Given the description of an element on the screen output the (x, y) to click on. 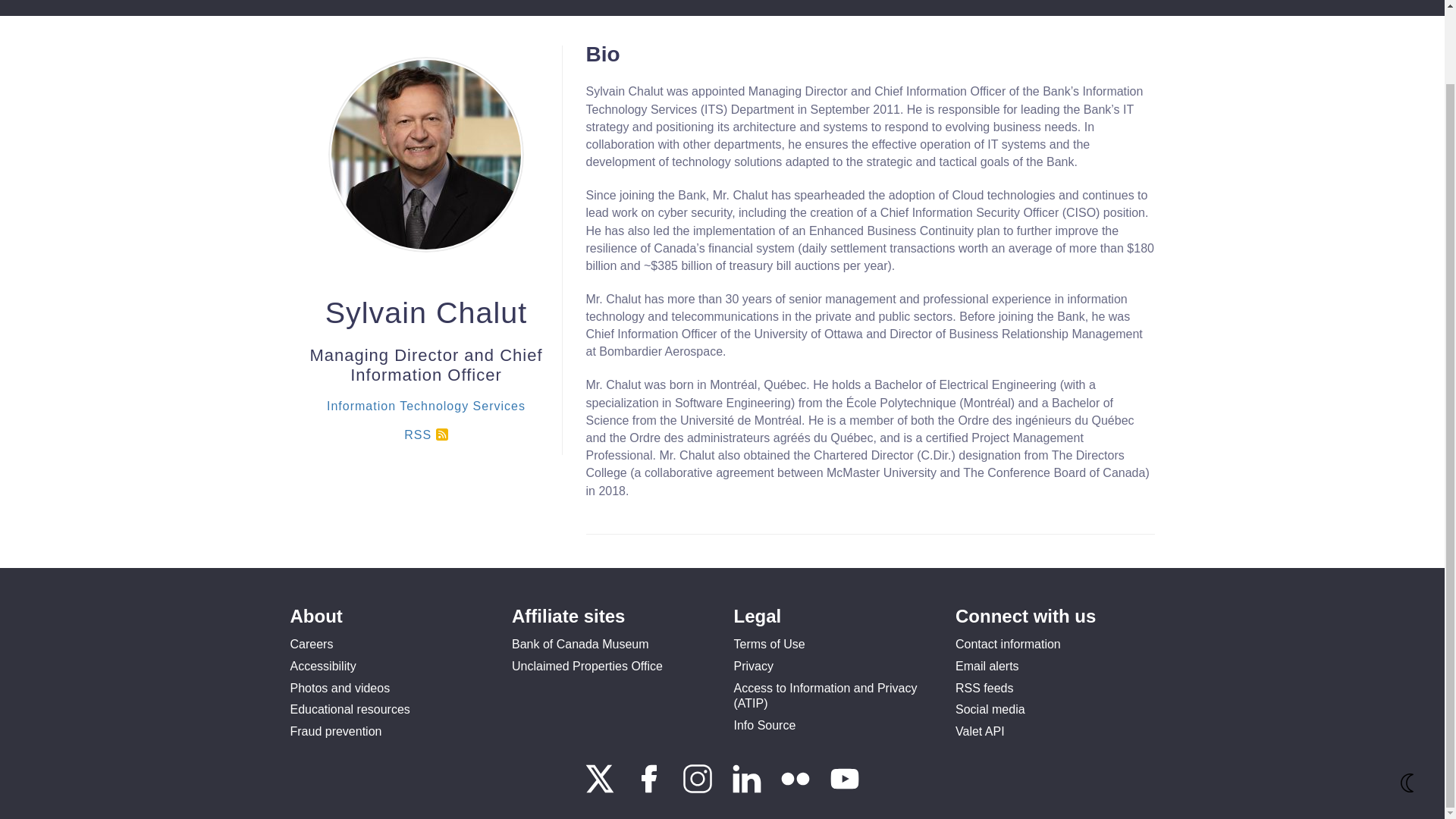
Connect with us on Instagram (699, 789)
Access our photos on Flickr (797, 789)
Connect with us on X (601, 789)
Connect with us on Facebook (650, 789)
MARKETS (530, 7)
rss-feed-square (441, 422)
CORE FUNCTIONS (430, 7)
ABOUT US (329, 7)
Access our videos on YouTube (844, 789)
Subscribe to Sylvain Chalut (425, 422)
